Given the description of an element on the screen output the (x, y) to click on. 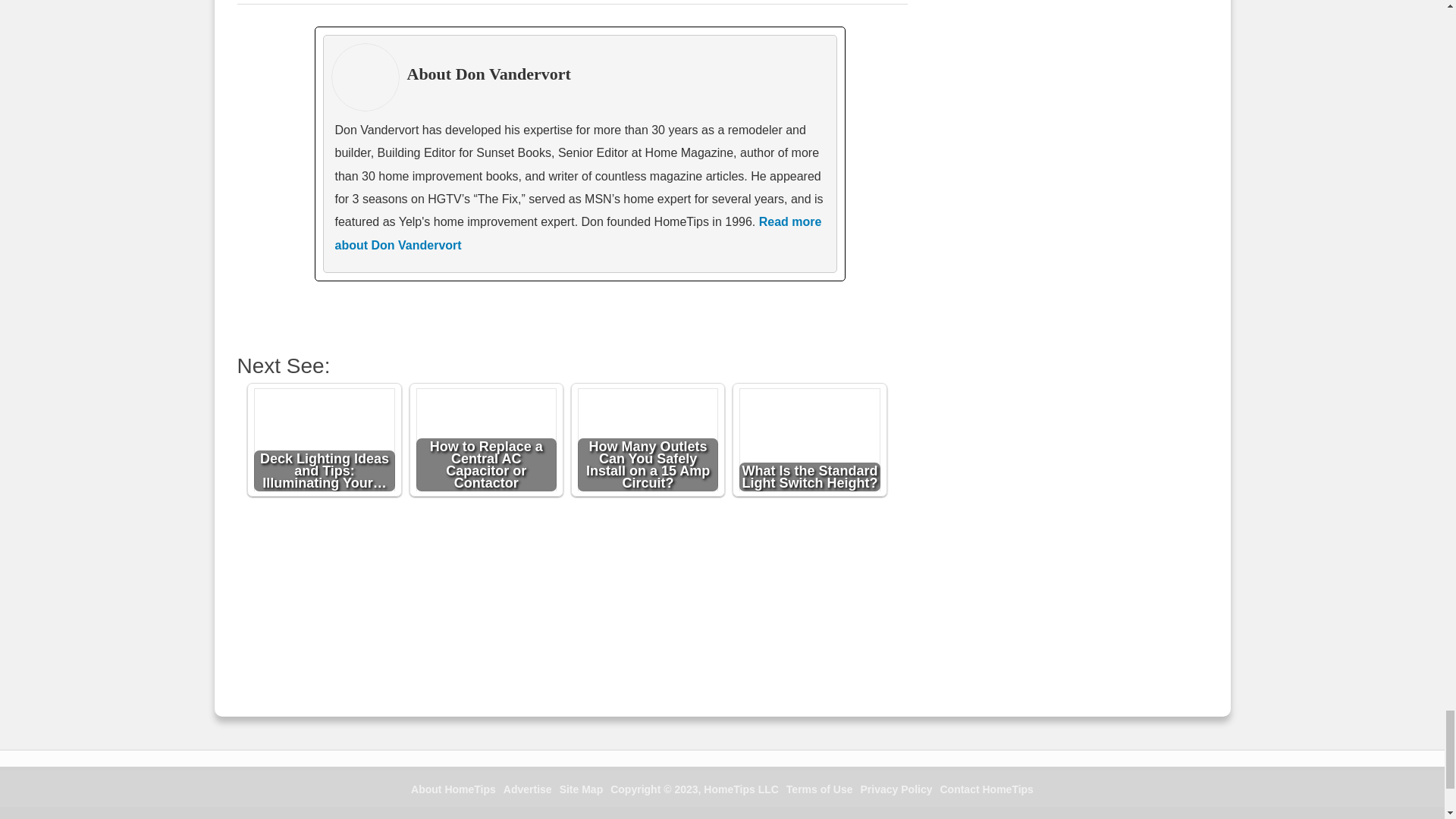
How Many Outlets Can You Safely Install on a 15 Amp Circuit? (648, 442)
What Is the Standard Light Switch Height? (809, 442)
How to Replace a Central AC Capacitor or Contactor (486, 442)
